Given the description of an element on the screen output the (x, y) to click on. 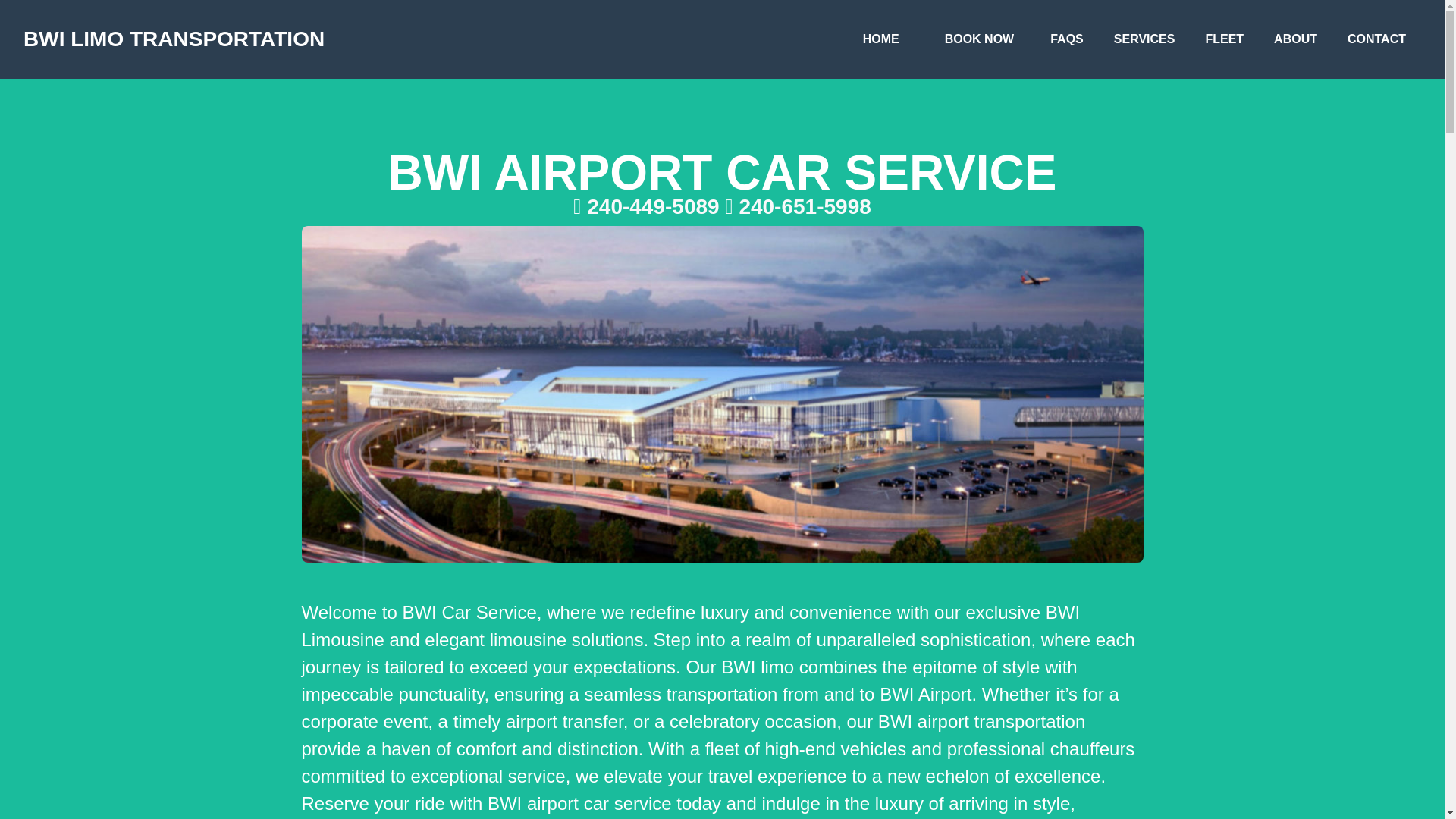
BOOK NOW (979, 39)
BWI LIMO TRANSPORTATION (173, 38)
CONTACT (1376, 39)
SERVICES (1145, 39)
ABOUT (1295, 39)
FLEET (1223, 39)
HOME (880, 39)
HOME (880, 39)
BOOK NOW (979, 39)
BWI LIMO TRANSPORTATION (173, 38)
CONTACT (1376, 39)
FAQS (1067, 39)
ABOUT (1295, 39)
FAQS (1067, 39)
FLEET (1223, 39)
